Given the description of an element on the screen output the (x, y) to click on. 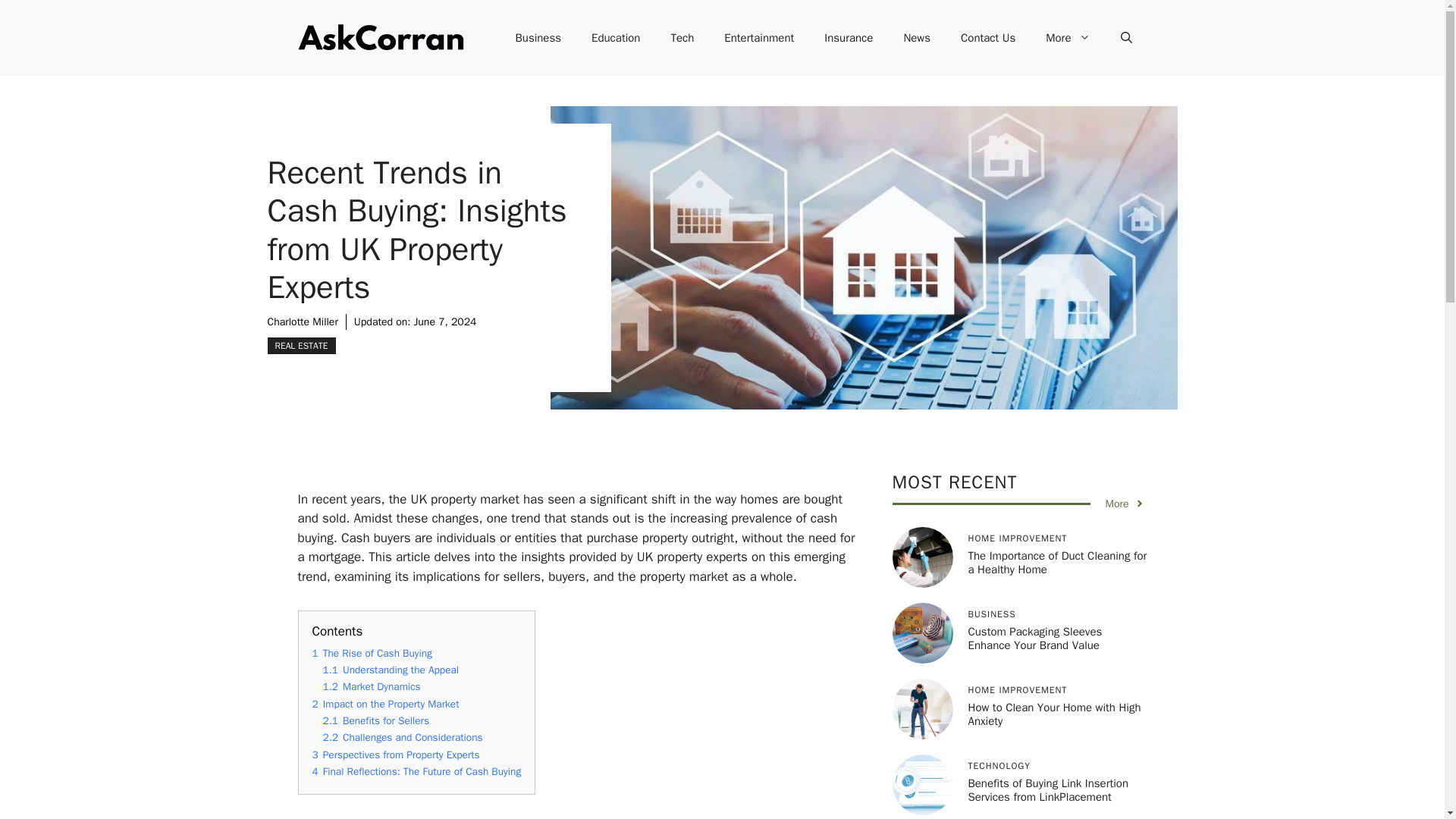
The Importance of Duct Cleaning for a Healthy Home (1057, 562)
1.1 Understanding the Appeal (391, 669)
More (1067, 37)
Tech (682, 37)
Entertainment (759, 37)
News (916, 37)
Business (538, 37)
Charlotte Miller (301, 321)
2.1 Benefits for Sellers (376, 720)
1 The Rise of Cash Buying (372, 652)
3 Perspectives from Property Experts (396, 754)
REAL ESTATE (300, 345)
Insurance (848, 37)
1.2 Market Dynamics (371, 686)
2.2 Challenges and Considerations (403, 737)
